Given the description of an element on the screen output the (x, y) to click on. 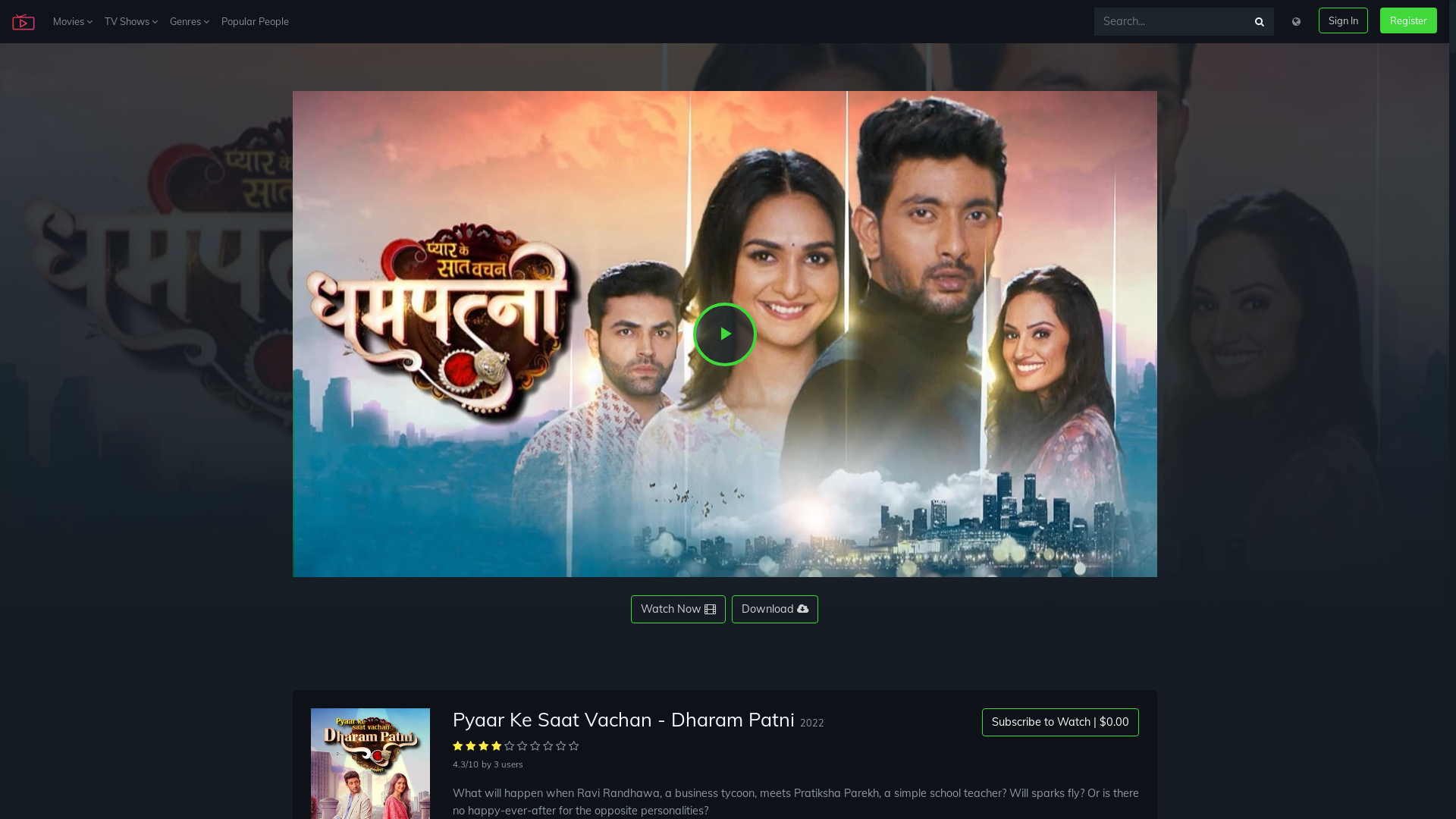
Download Element type: text (774, 609)
Popular People Element type: text (254, 20)
Watch Now Element type: text (677, 609)
Movies Element type: text (72, 20)
TV Shows Element type: text (130, 20)
Play Video Element type: text (724, 334)
Subscribe to Watch | $0.00 Element type: text (1059, 722)
Genres Element type: text (189, 20)
Sign In Element type: text (1343, 20)
Register Element type: text (1408, 20)
